Given the description of an element on the screen output the (x, y) to click on. 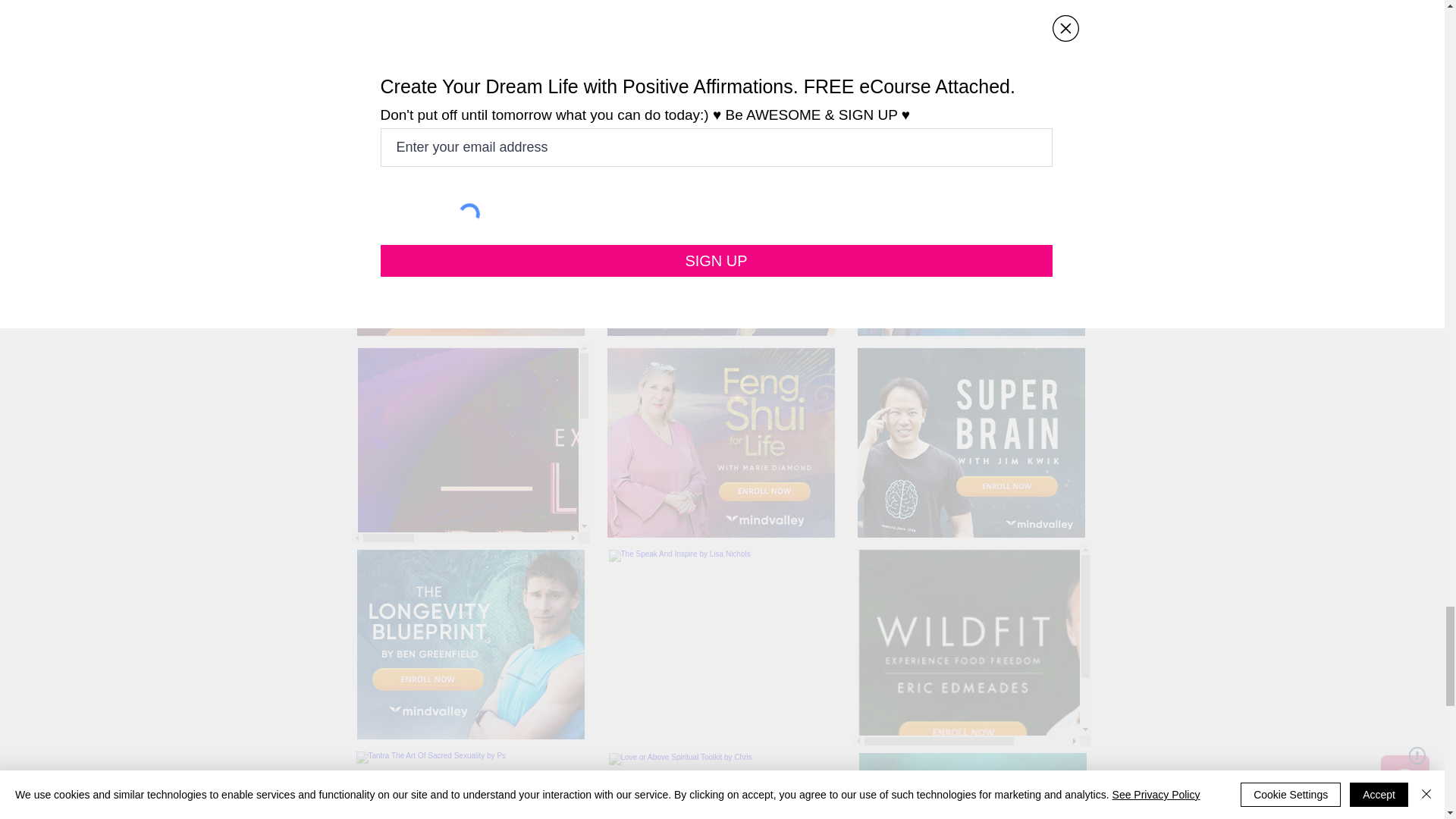
Embedded Content (969, 442)
The Mindvalley Yoga by Cecilia Sardeo, A Certified Yoga (721, 785)
Embedded Content (969, 241)
Embedded Content (469, 241)
Embedded Content (476, 644)
Embedded Content (718, 241)
Embedded Content (718, 442)
Embedded Content (970, 644)
The Speak And Inspire by Lisa Nichols (721, 644)
Embedded Content (470, 442)
Embedded Content (970, 782)
